Given the description of an element on the screen output the (x, y) to click on. 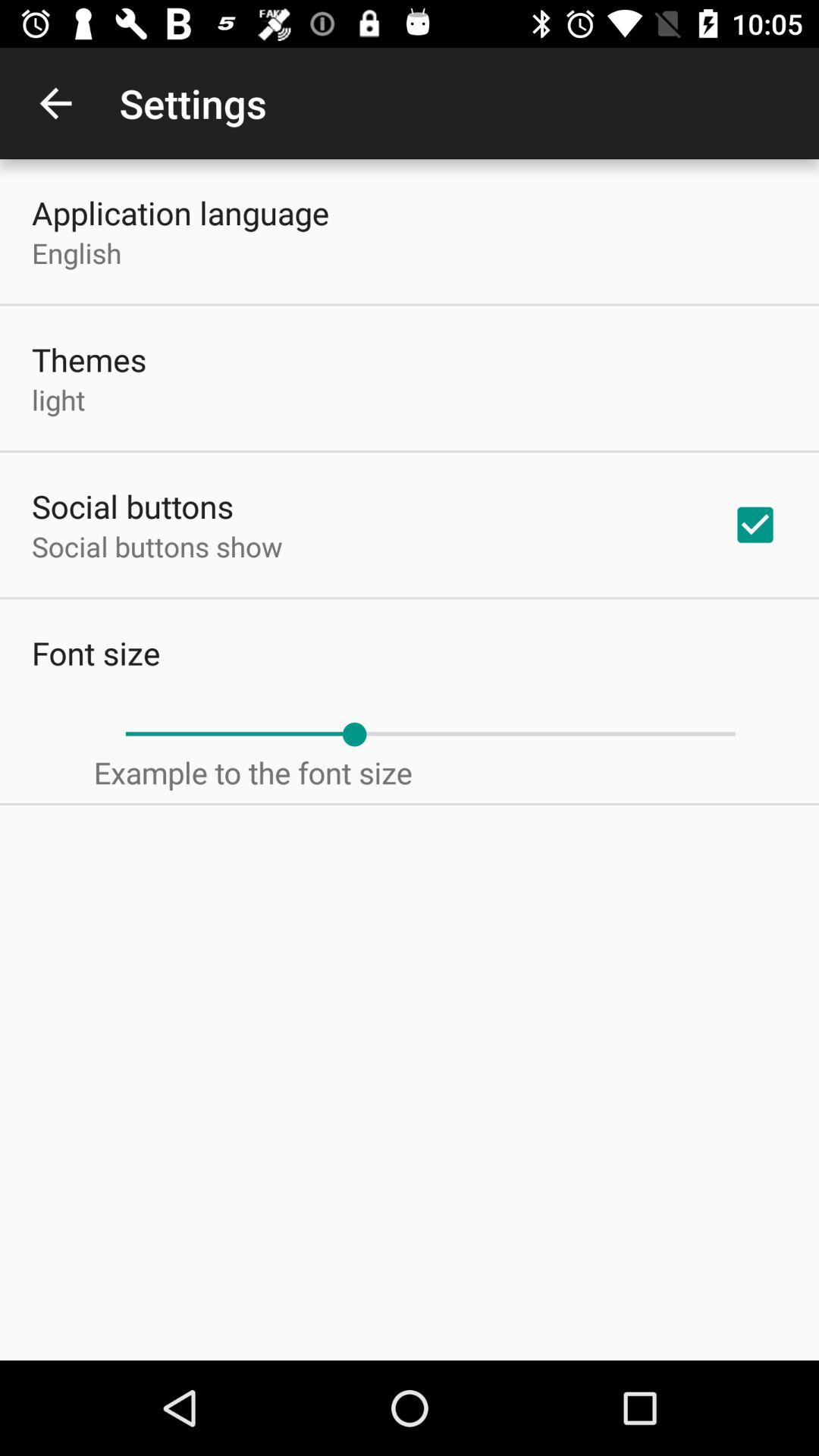
swipe to english (76, 252)
